Given the description of an element on the screen output the (x, y) to click on. 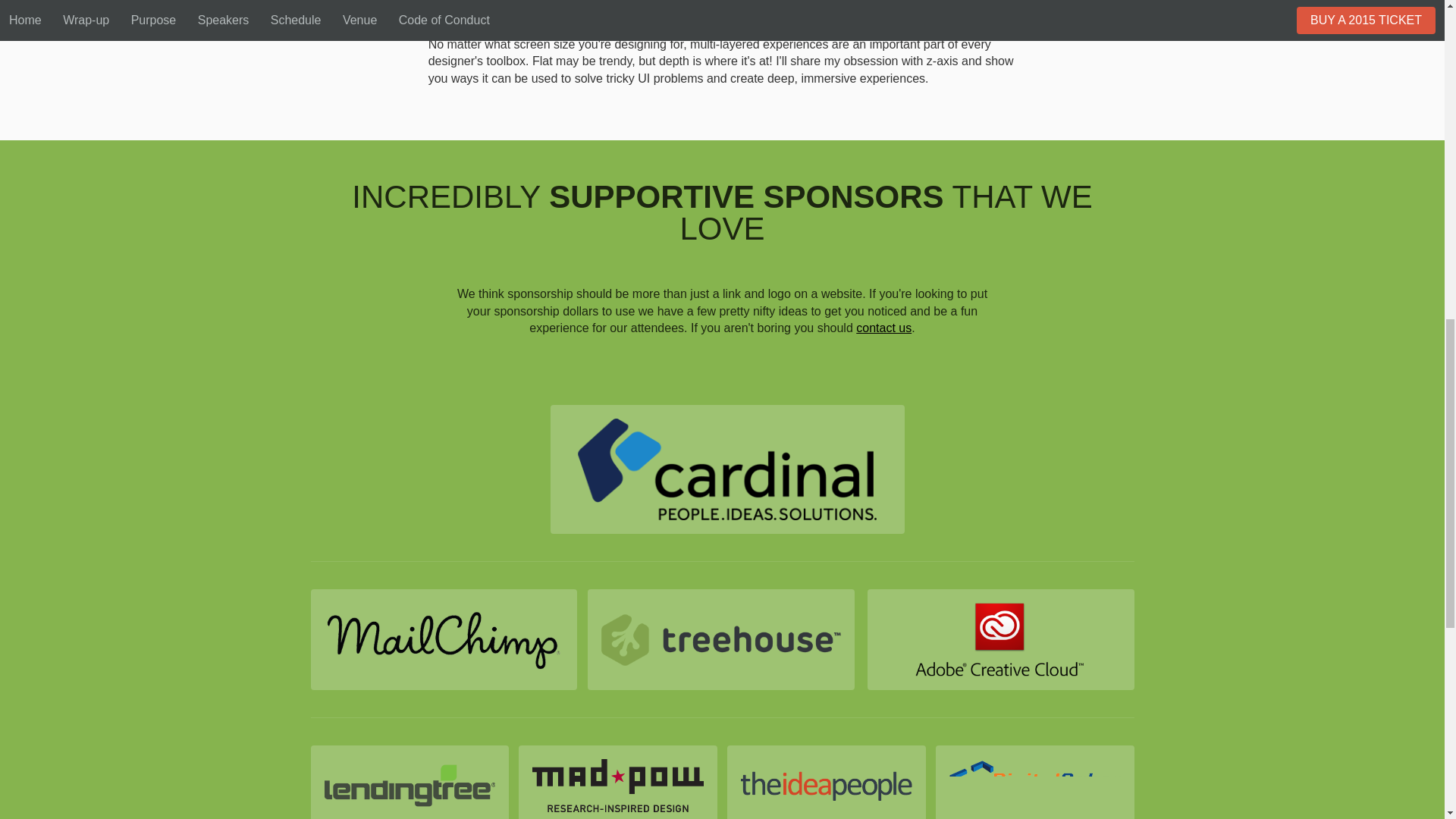
Lending Tree (409, 782)
Adobe (1000, 639)
MailChimp (444, 639)
The Idea People (825, 782)
Digital Saber (1035, 782)
Treehouse (721, 639)
Cardinal Solutions (727, 468)
contact us (883, 327)
